Given the description of an element on the screen output the (x, y) to click on. 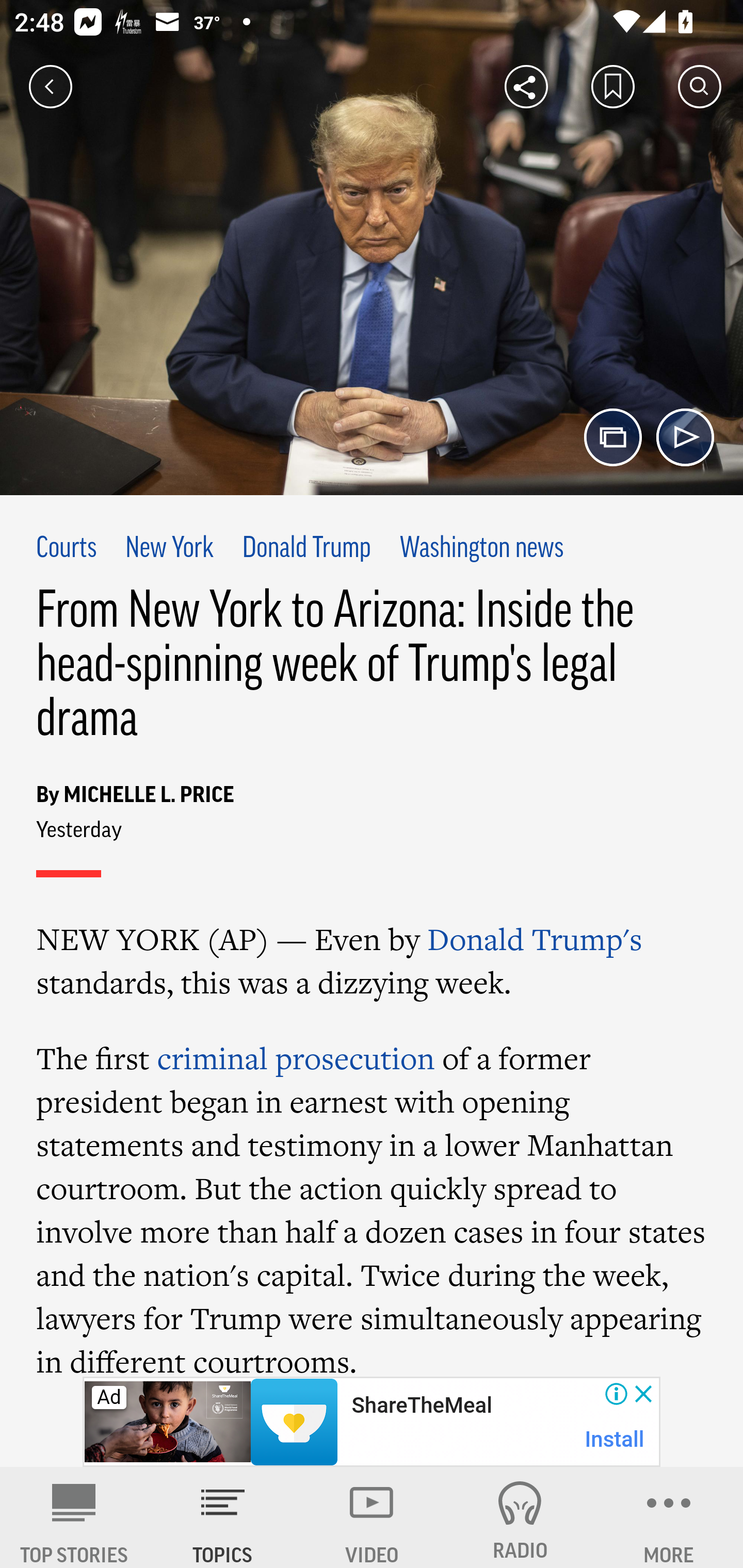
Courts (66, 549)
New York (169, 549)
Donald Trump (307, 549)
Washington news (481, 549)
Donald Trump's (534, 939)
criminal prosecution (294, 1058)
ShareTheMeal (420, 1405)
Install (614, 1438)
AP News TOP STORIES (74, 1517)
TOPICS (222, 1517)
VIDEO (371, 1517)
RADIO (519, 1517)
MORE (668, 1517)
